Given the description of an element on the screen output the (x, y) to click on. 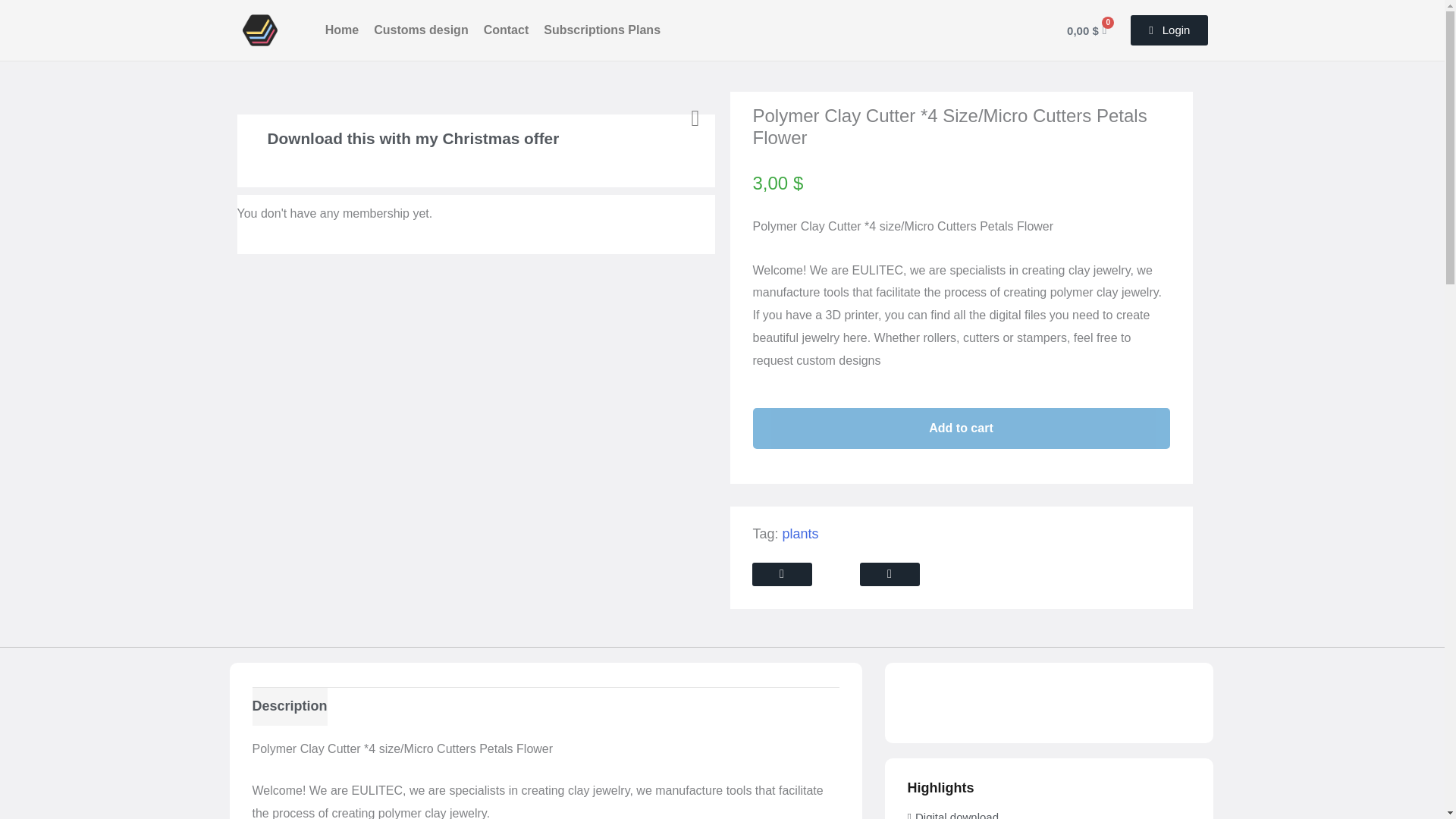
Customs design (421, 30)
Digital download (952, 815)
Contact (506, 30)
Add to cart (960, 427)
plants (800, 533)
Description (288, 706)
Subscriptions Plans (601, 30)
Login (1169, 30)
Home (341, 30)
